Given the description of an element on the screen output the (x, y) to click on. 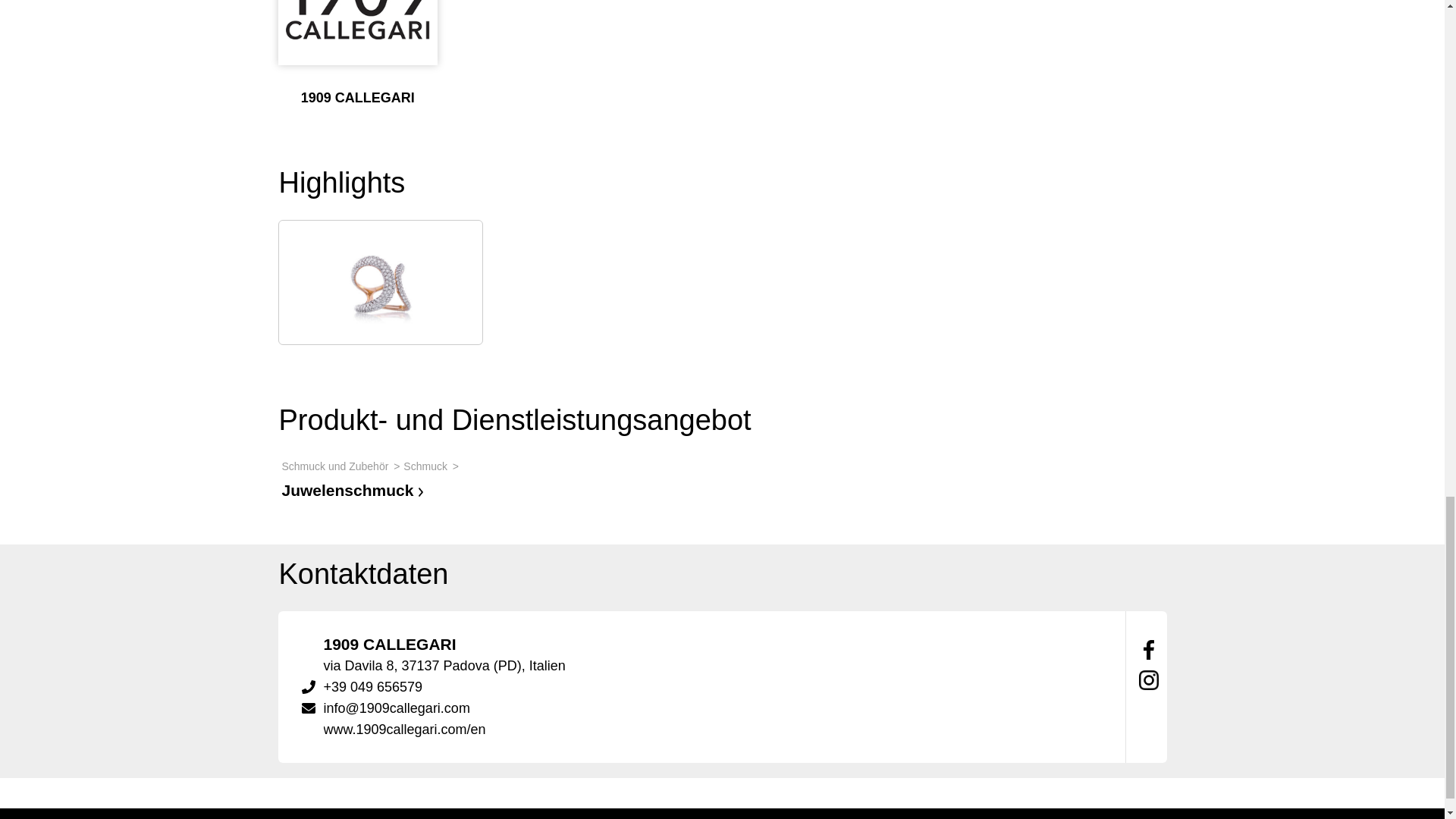
Juwelenschmuck (355, 489)
Schmuck (433, 466)
The Connection ring by 1909 CALLEGARI - Mehr erfahren (380, 282)
1909 CALLEGARI (357, 19)
